Given the description of an element on the screen output the (x, y) to click on. 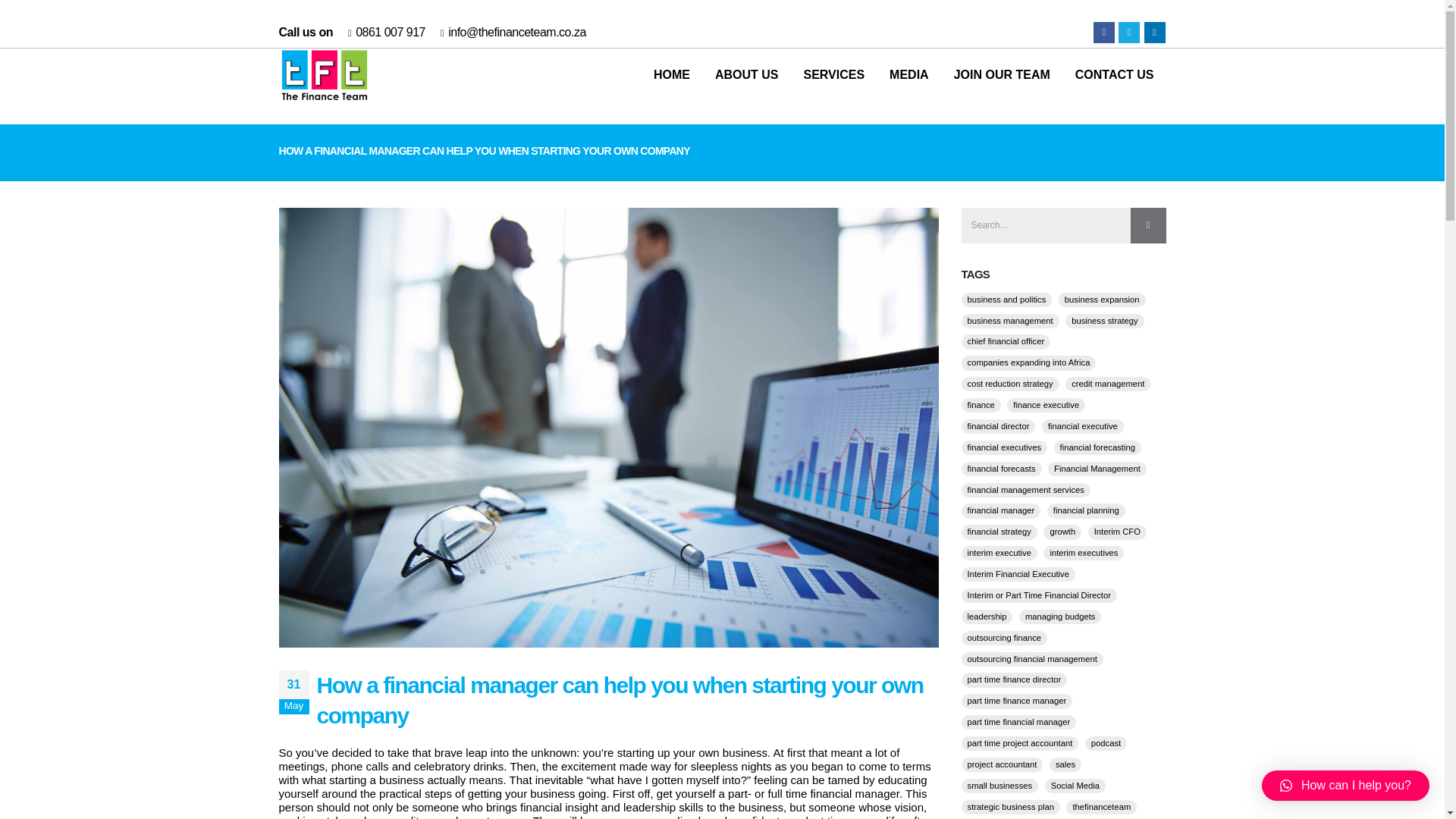
0861 007 917 (390, 31)
MEDIA (908, 74)
SERVICES (833, 74)
Twitter (1129, 32)
HOME (671, 74)
CONTACT US (1114, 74)
ABOUT US (746, 74)
LinkedIn (1153, 32)
JOIN OUR TEAM (1002, 74)
The Finance Team -  (324, 74)
